Given the description of an element on the screen output the (x, y) to click on. 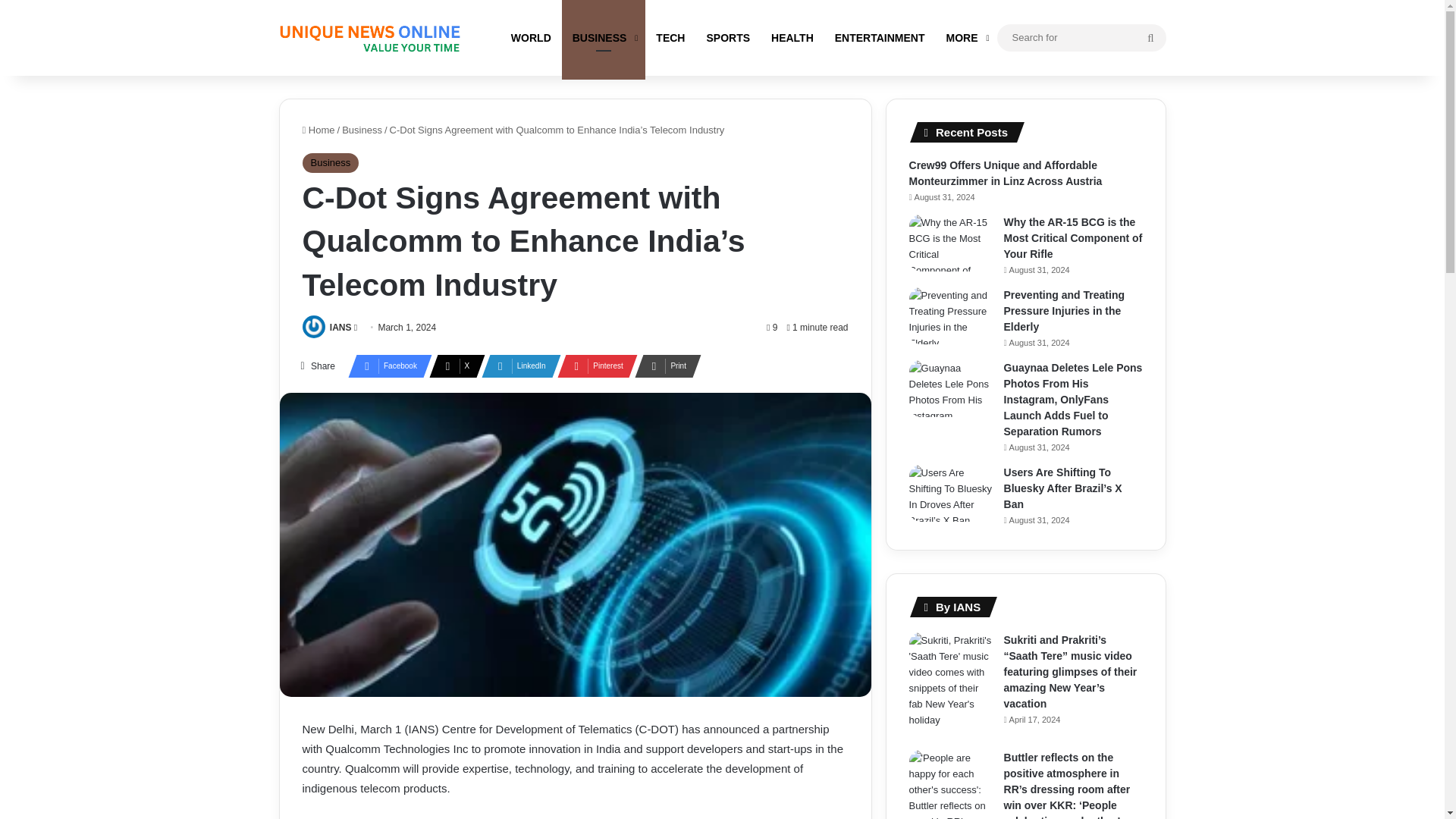
Search for (1080, 36)
Facebook (385, 365)
Pinterest (592, 365)
LinkedIn (516, 365)
Business (329, 162)
IANS (341, 327)
Unique News Online (369, 37)
Pinterest (592, 365)
IANS (341, 327)
Home (317, 129)
